Given the description of an element on the screen output the (x, y) to click on. 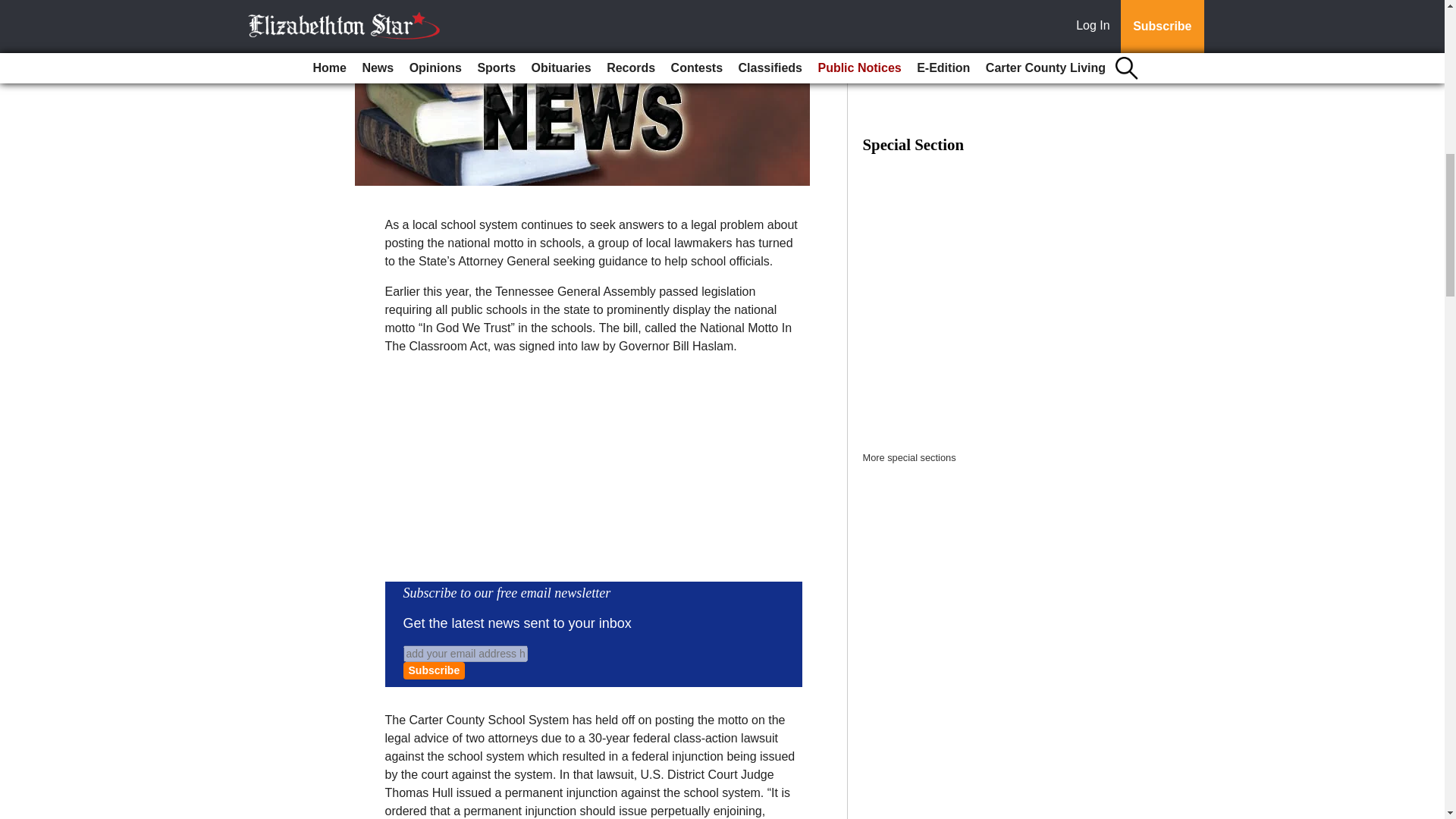
Subscribe (434, 670)
Subscribe (434, 670)
More special sections (909, 457)
